Given the description of an element on the screen output the (x, y) to click on. 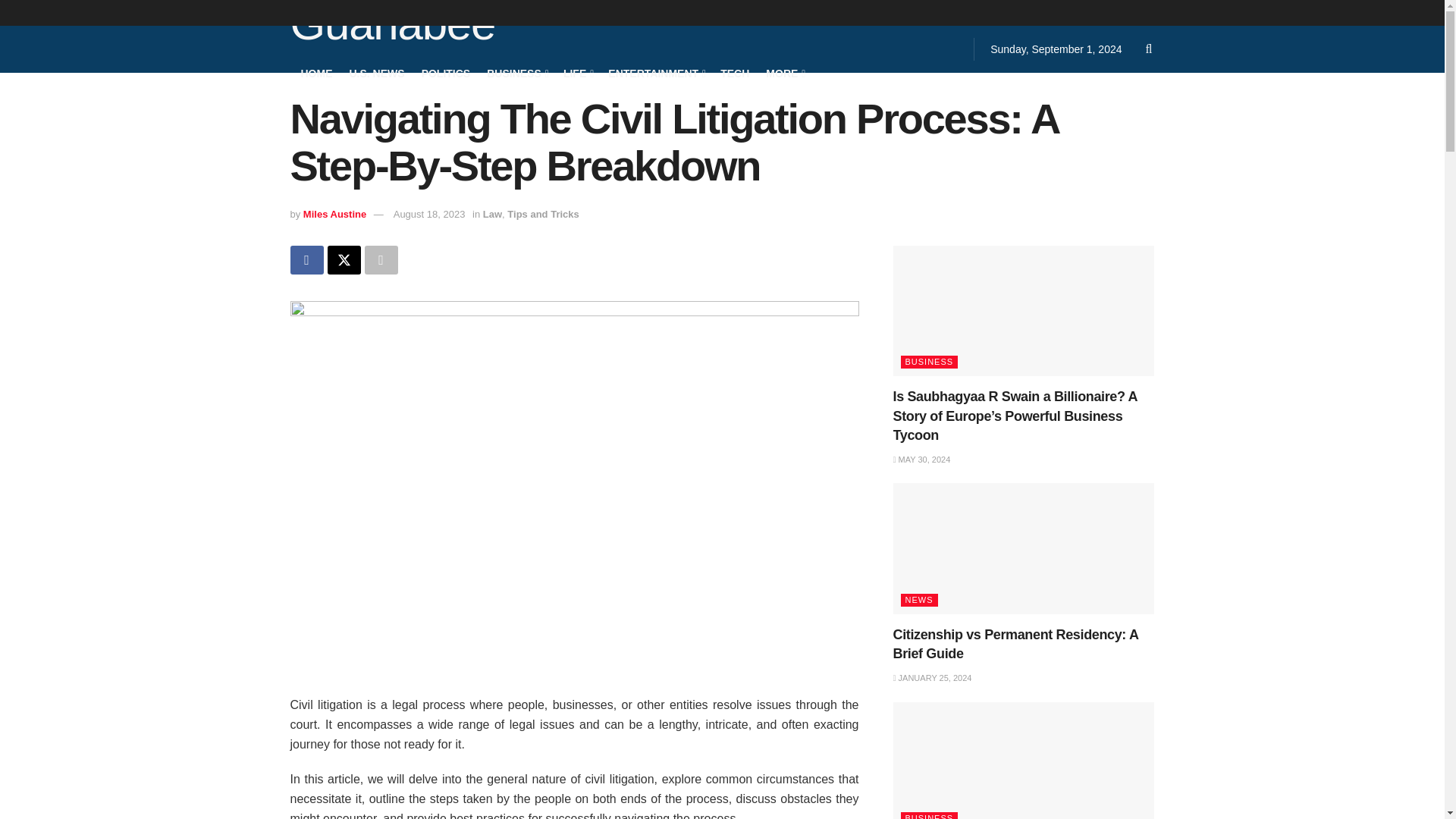
ENTERTAINMENT (655, 73)
Tips and Tricks (542, 214)
BUSINESS (516, 73)
Guanabee (392, 25)
POLITICS (446, 73)
Miles Austine (334, 214)
Law (492, 214)
August 18, 2023 (429, 214)
U.S. NEWS (376, 73)
